Given the description of an element on the screen output the (x, y) to click on. 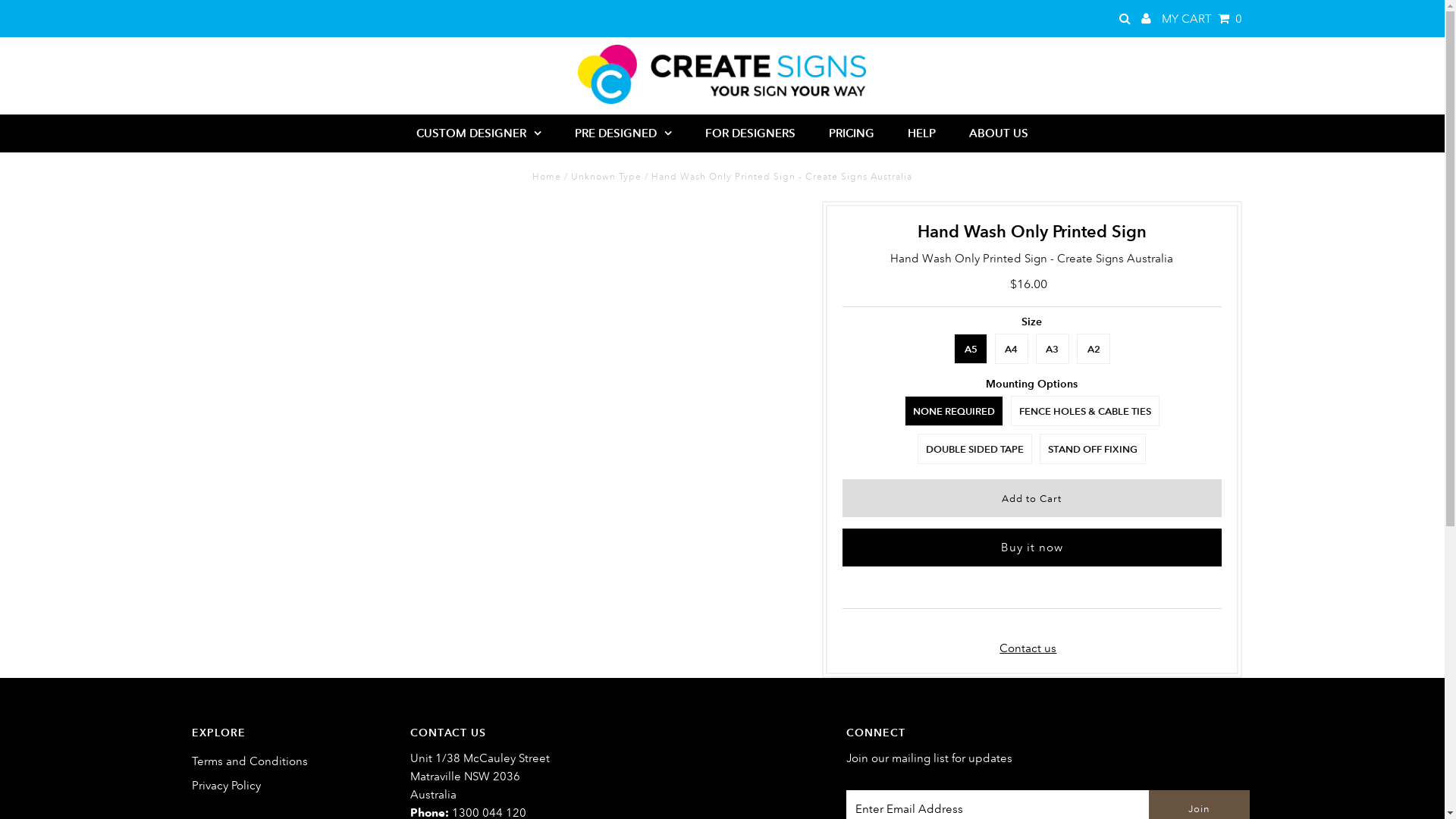
PRICING Element type: text (851, 133)
Contact us Element type: text (1027, 647)
PRE DESIGNED Element type: text (623, 133)
Terms and Conditions Element type: text (249, 760)
Home Element type: text (546, 176)
HELP Element type: text (921, 133)
ABOUT US Element type: text (998, 133)
MY CART    0 Element type: text (1201, 18)
Buy it now Element type: text (1031, 547)
Privacy Policy Element type: text (225, 785)
CUSTOM DESIGNER Element type: text (478, 133)
Add to Cart Element type: text (1031, 498)
FOR DESIGNERS Element type: text (750, 133)
